Given the description of an element on the screen output the (x, y) to click on. 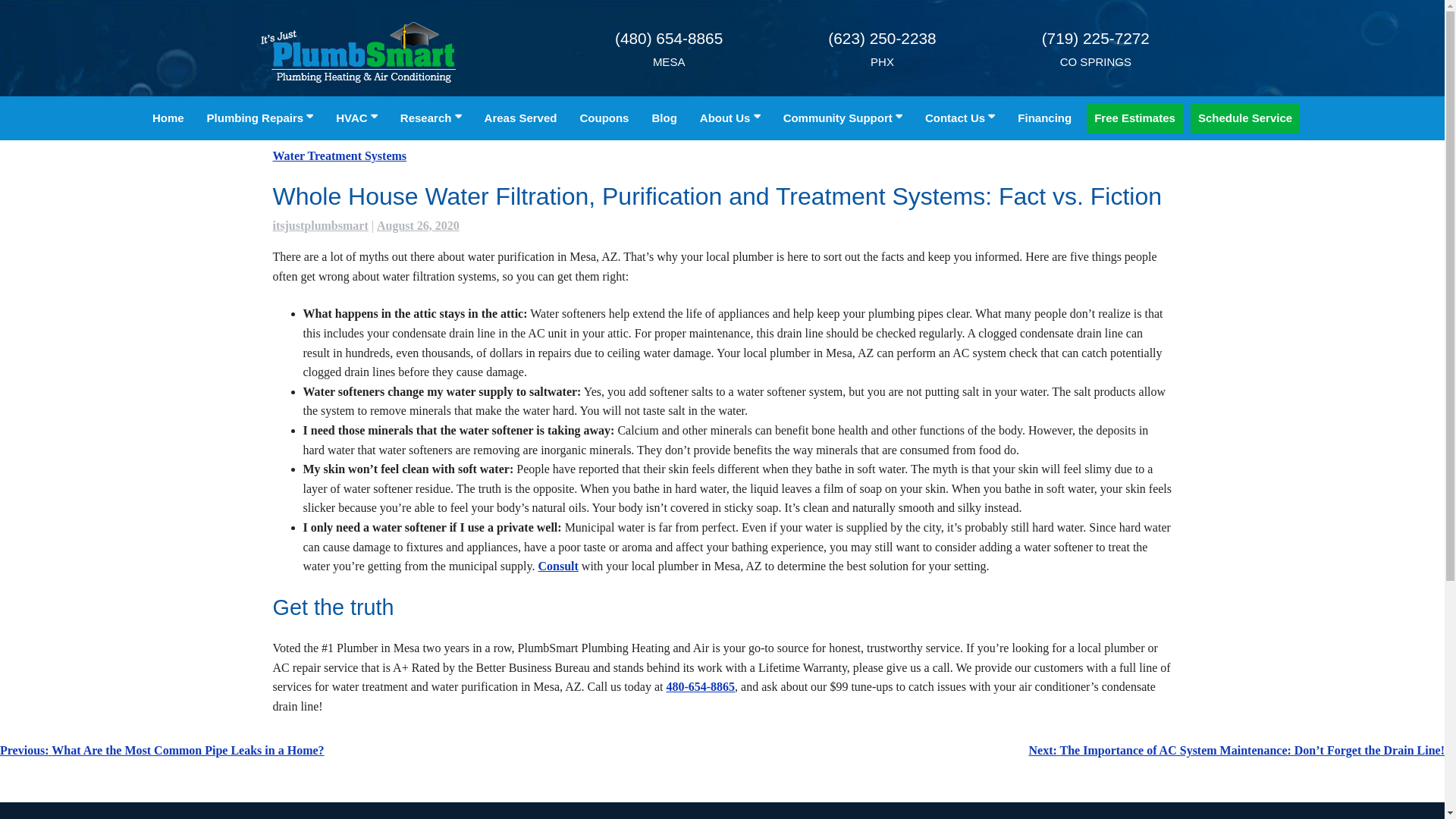
Home (168, 118)
HVAC (357, 118)
click to call (700, 686)
Plumbing Repairs (260, 118)
home page (558, 565)
